Given the description of an element on the screen output the (x, y) to click on. 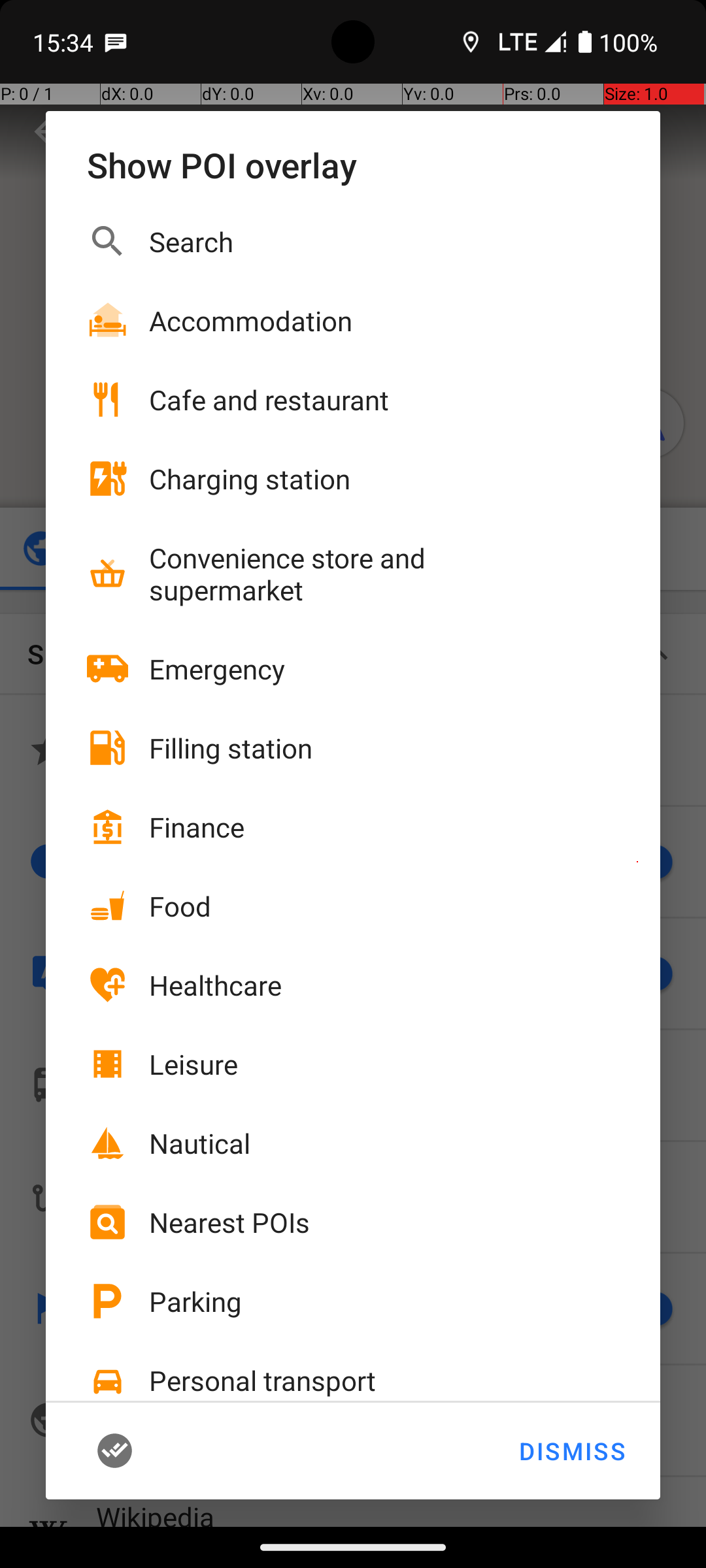
Show POI overlay Element type: android.widget.TextView (352, 164)
  Element type: android.widget.Button (135, 1450)
DISMISS Element type: android.widget.Button (571, 1450)
Accommodation Element type: android.widget.TextView (250, 320)
Cafe and restaurant Element type: android.widget.TextView (269, 399)
Charging station Element type: android.widget.TextView (249, 478)
Convenience store and supermarket Element type: android.widget.TextView (359, 573)
Emergency Element type: android.widget.TextView (217, 668)
Filling station Element type: android.widget.TextView (230, 747)
Healthcare Element type: android.widget.TextView (215, 984)
Leisure Element type: android.widget.TextView (193, 1063)
Nautical Element type: android.widget.TextView (199, 1142)
Nearest POIs Element type: android.widget.TextView (229, 1221)
Parking Element type: android.widget.TextView (195, 1300)
Personal transport Element type: android.widget.TextView (262, 1379)
